Given the description of an element on the screen output the (x, y) to click on. 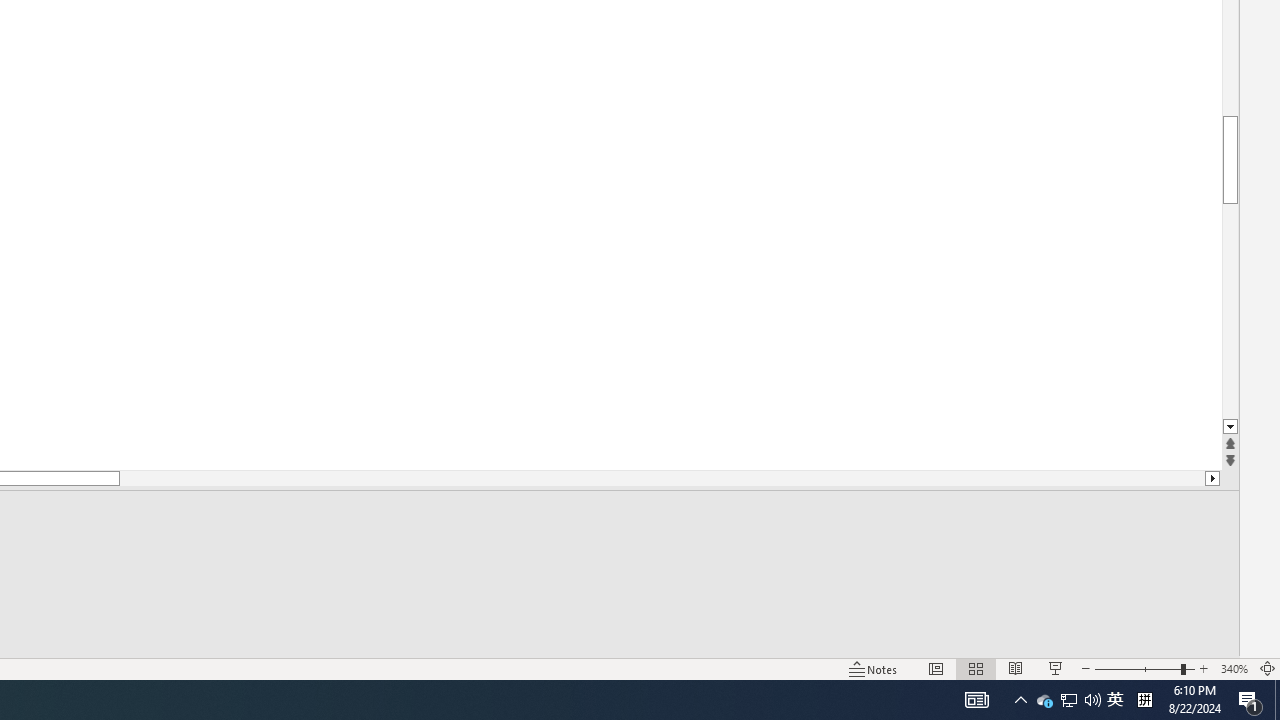
Zoom 340% (1234, 668)
